Given the description of an element on the screen output the (x, y) to click on. 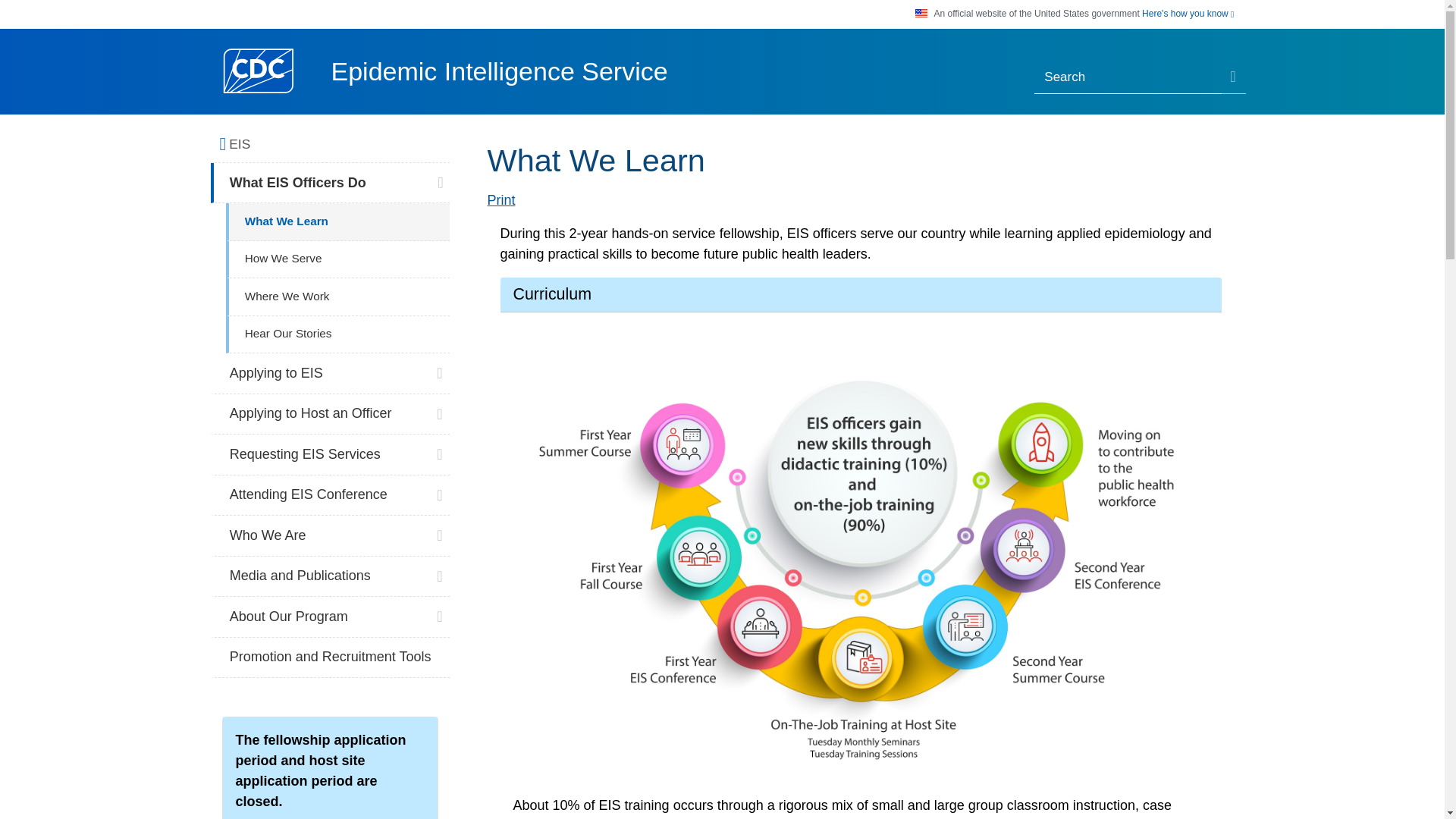
Here's how you know (1187, 14)
Epidemic Intelligence Service (498, 71)
